Given the description of an element on the screen output the (x, y) to click on. 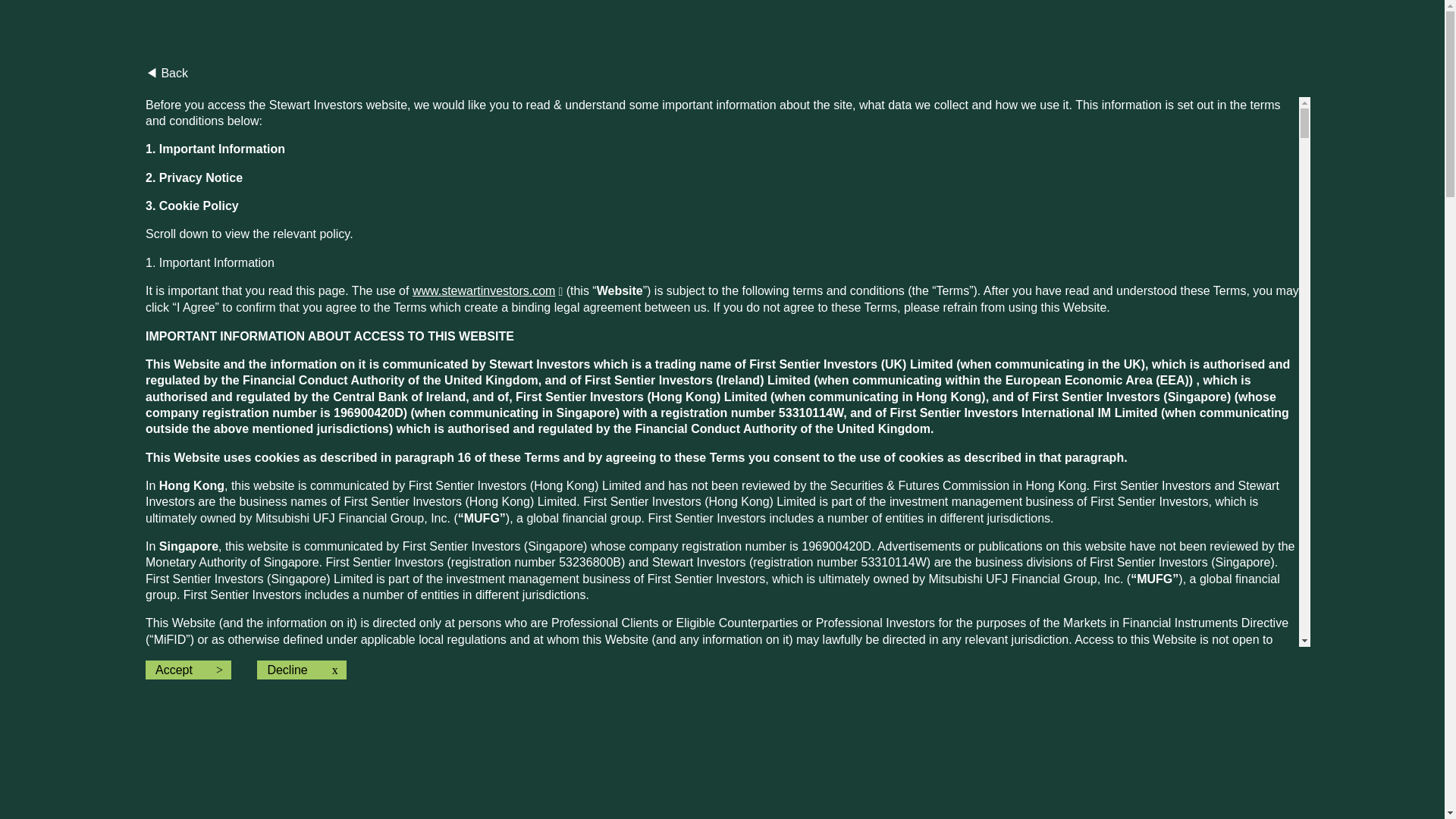
www.stewartinvestors.com (487, 290)
Australia (634, 108)
www.firststateinvestments.com (487, 290)
Rest of World (621, 354)
Switzerland (626, 272)
United Kingdom (615, 299)
Link to site homepage. (330, 58)
Open site search form (1195, 64)
New Zealand (622, 217)
Singapore (630, 245)
Hong Kong (625, 163)
United States (621, 327)
Europe (638, 135)
Ireland (639, 190)
